Given the description of an element on the screen output the (x, y) to click on. 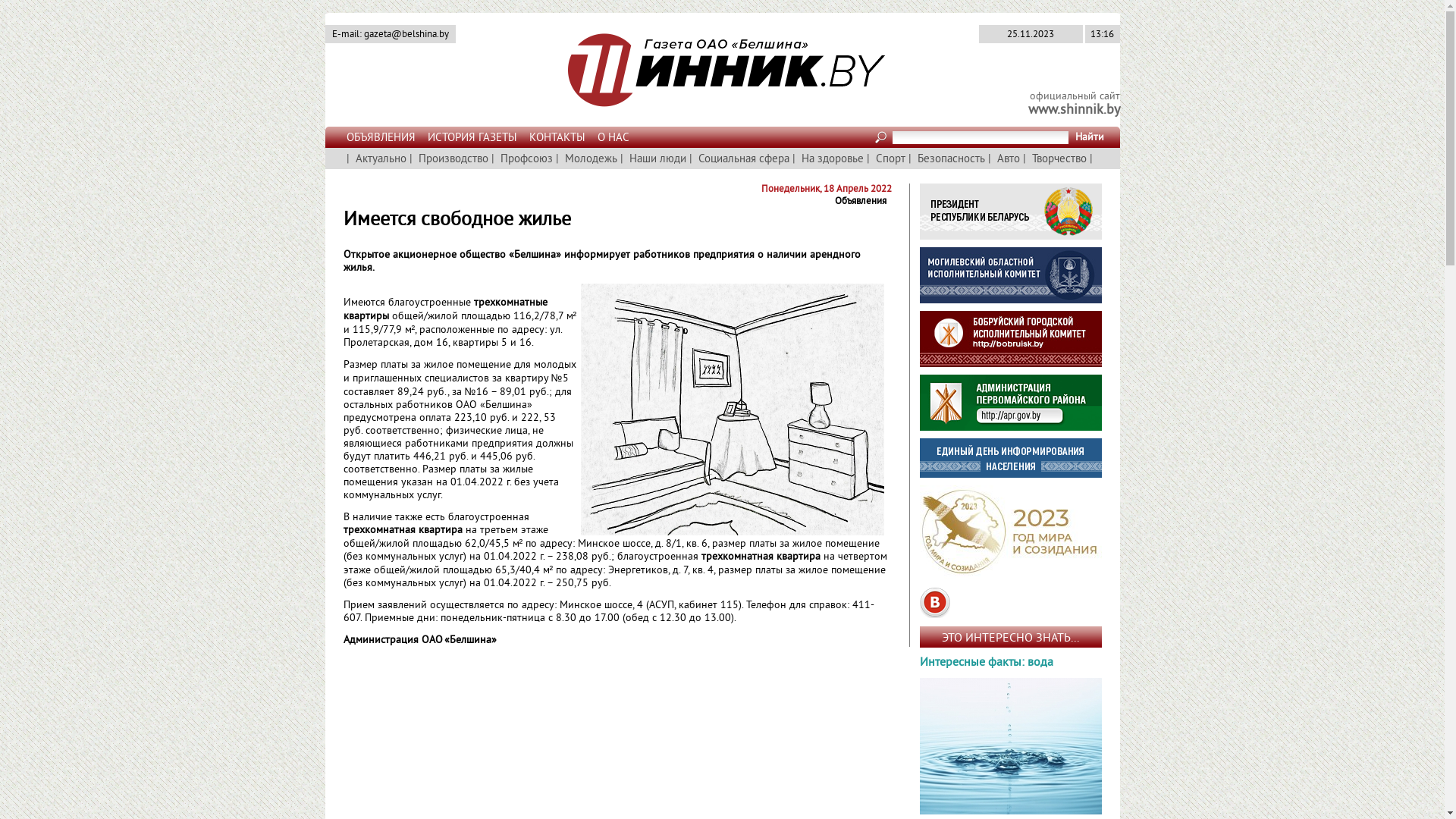
| Element type: text (689, 159)
| Element type: text (346, 159)
| Element type: text (792, 159)
| Element type: text (556, 159)
| Element type: text (909, 159)
| Element type: text (1023, 159)
| Element type: text (621, 159)
| Element type: text (867, 159)
| Element type: text (1090, 159)
| Element type: text (492, 159)
| Element type: text (410, 159)
| Element type: text (988, 159)
